Given the description of an element on the screen output the (x, y) to click on. 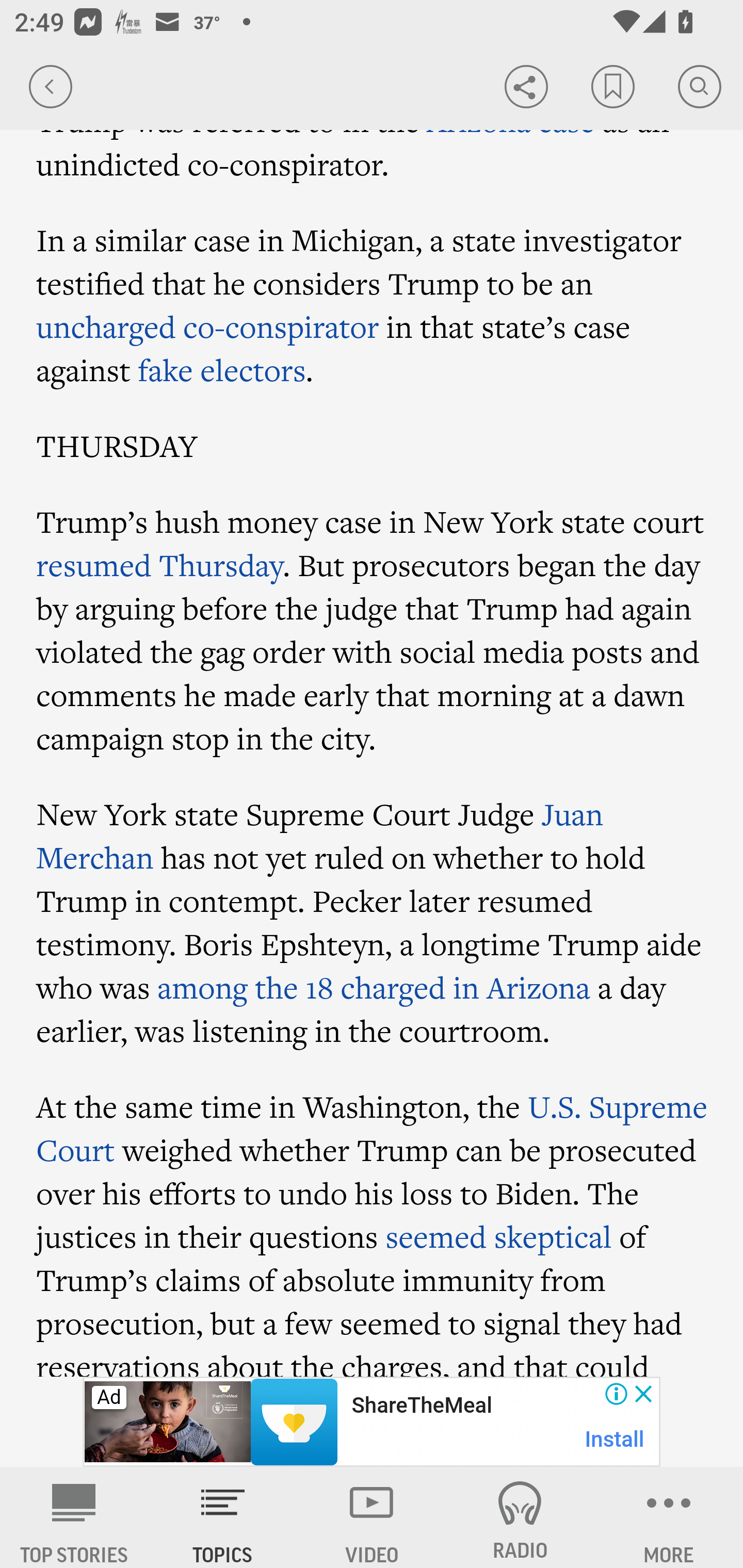
uncharged co-conspirator (208, 326)
fake electors (221, 370)
resumed Thursday (159, 565)
Juan Merchan (320, 836)
among the 18 charged in Arizona (374, 987)
U.S. Supreme Court (372, 1128)
seemed skeptical (498, 1237)
ShareTheMeal (420, 1405)
Install (614, 1438)
AP News TOP STORIES (74, 1517)
TOPICS (222, 1517)
VIDEO (371, 1517)
RADIO (519, 1517)
MORE (668, 1517)
